Given the description of an element on the screen output the (x, y) to click on. 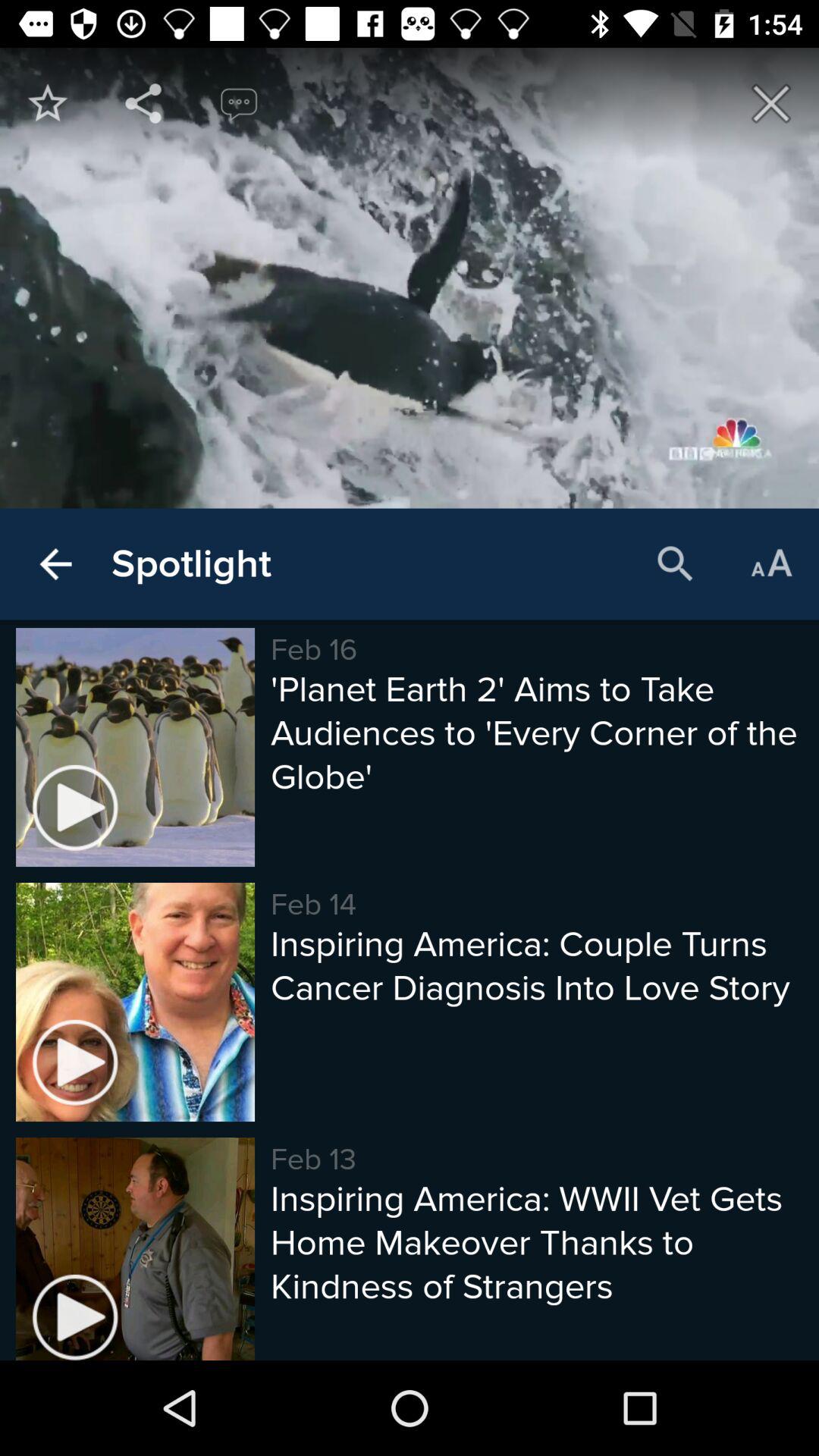
close the window (771, 103)
